Given the description of an element on the screen output the (x, y) to click on. 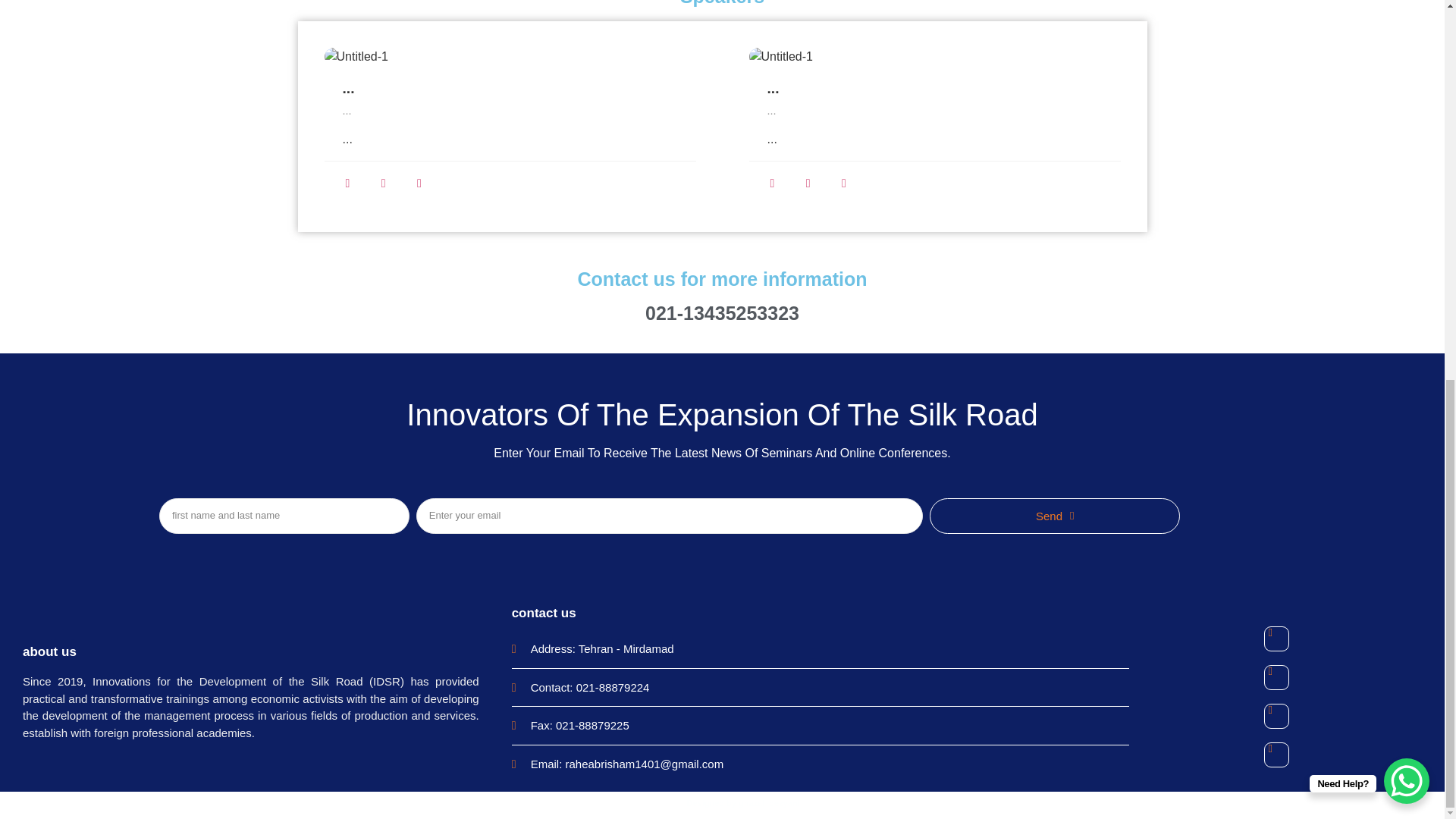
Untitled-1 (935, 56)
Untitled-1 (509, 56)
Send (1054, 515)
